Given the description of an element on the screen output the (x, y) to click on. 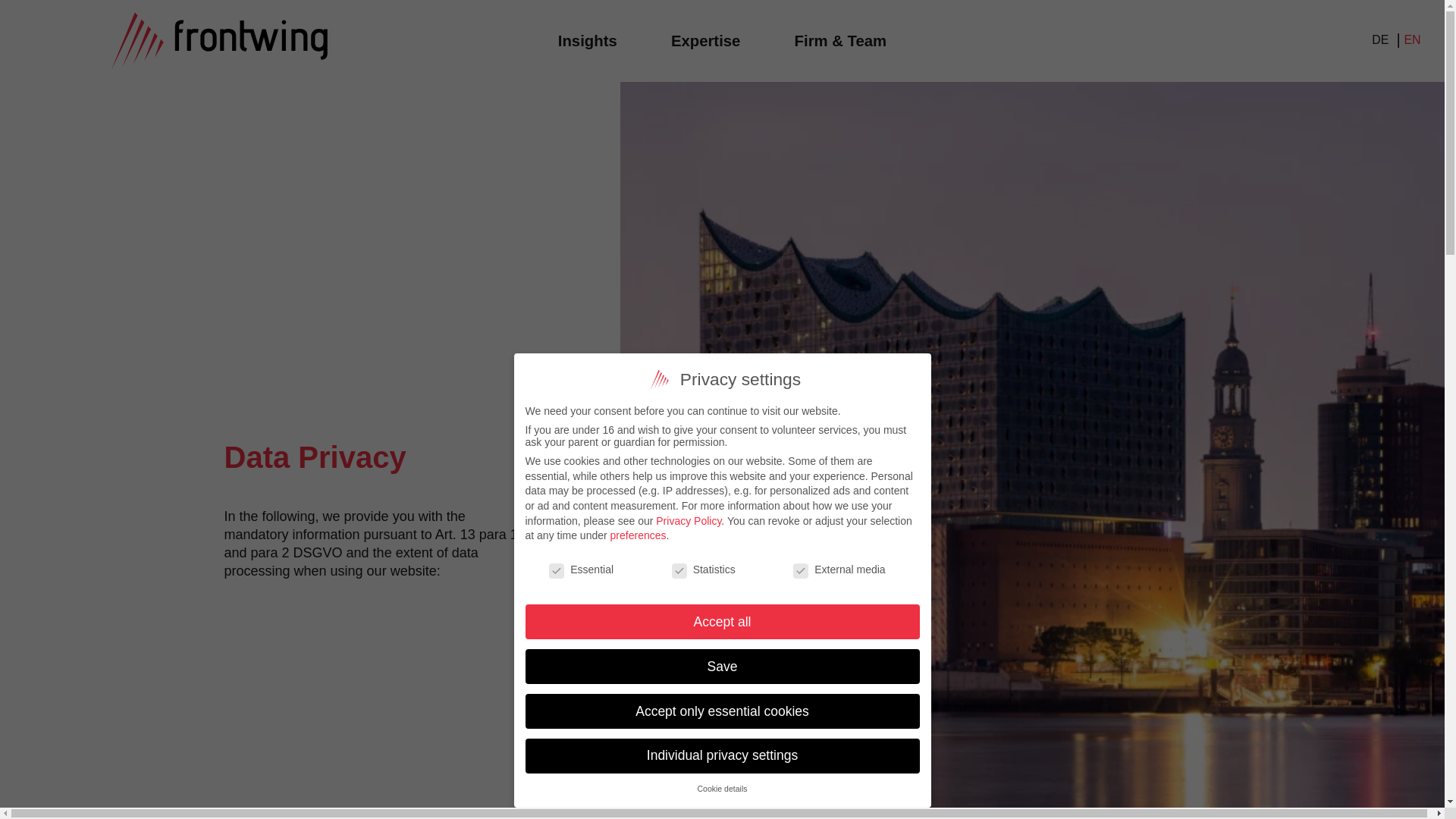
Cookie details (722, 788)
Individual privacy settings (721, 755)
Accept all (721, 621)
EN (1412, 39)
preferences (638, 535)
DE (1380, 39)
Save (721, 666)
Accept only essential cookies (721, 710)
Expertise (705, 38)
Privacy Policy (688, 520)
